Given the description of an element on the screen output the (x, y) to click on. 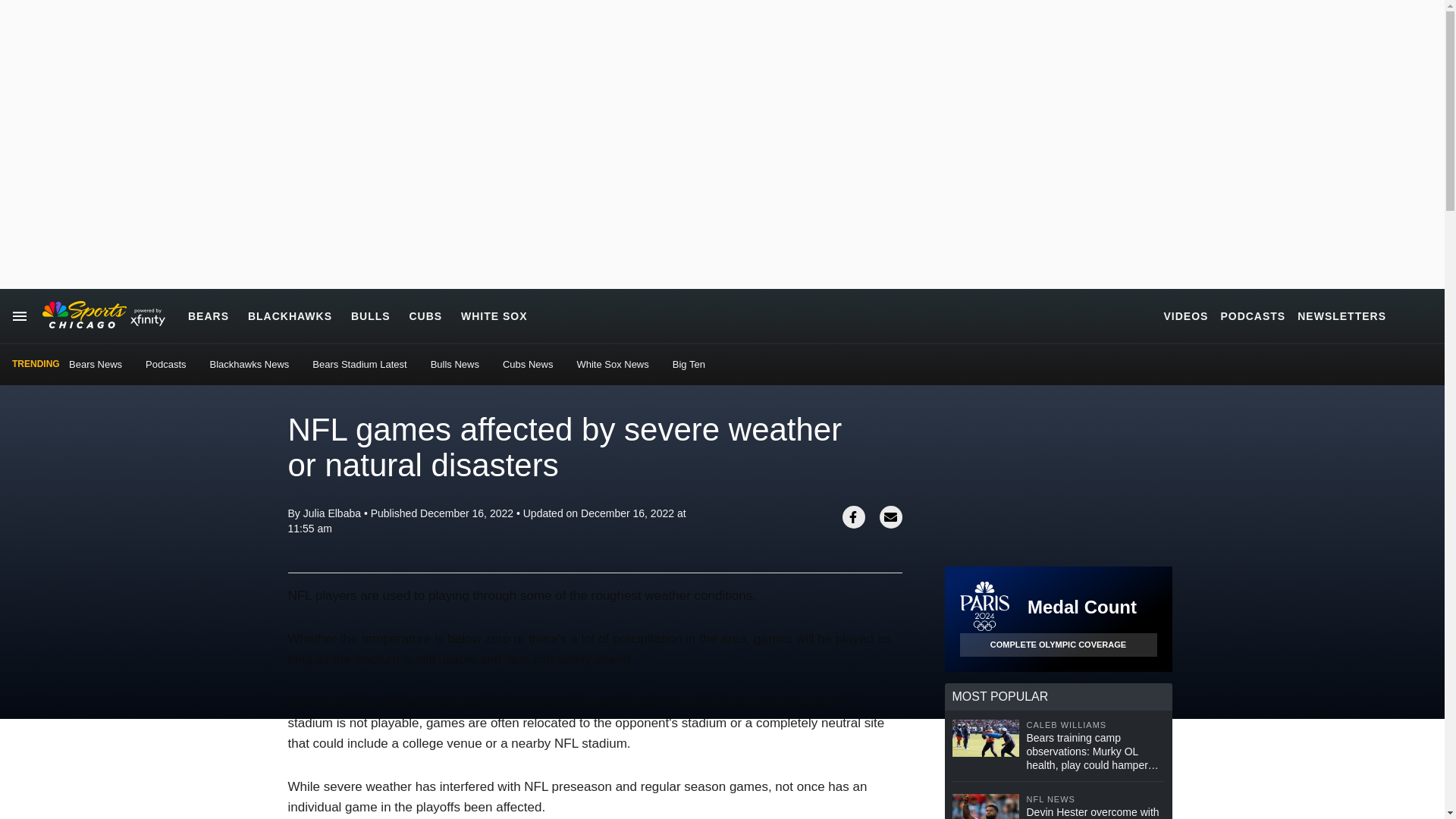
Big Ten (688, 364)
Bulls News (454, 364)
VIDEOS (1185, 315)
BULLS (370, 315)
Bears News (95, 364)
White Sox News (611, 364)
CUBS (425, 315)
Julia Elbaba (331, 512)
Bears Stadium Latest (359, 364)
Podcasts (165, 364)
